Given the description of an element on the screen output the (x, y) to click on. 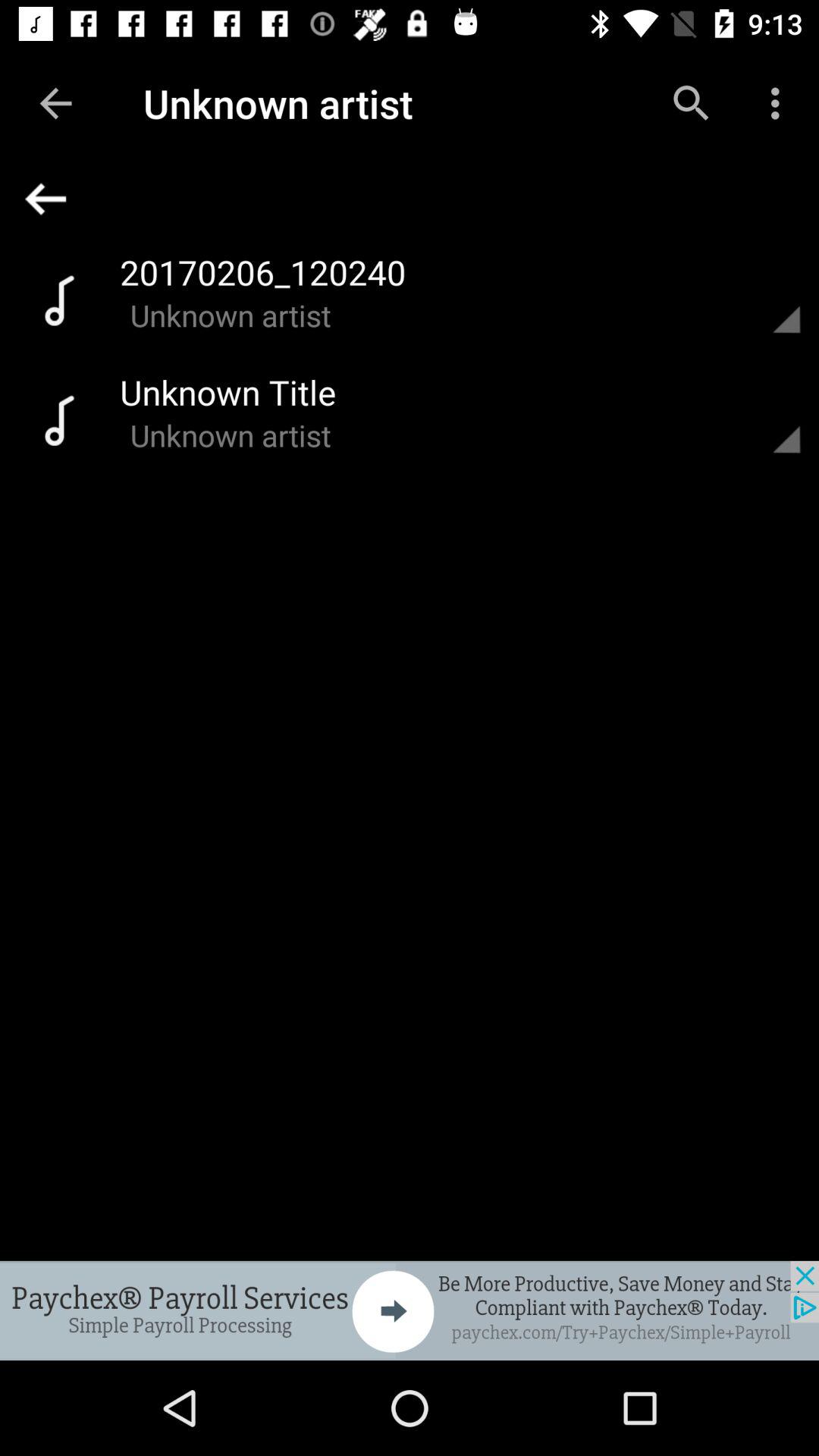
advertisements banner (409, 1310)
